Given the description of an element on the screen output the (x, y) to click on. 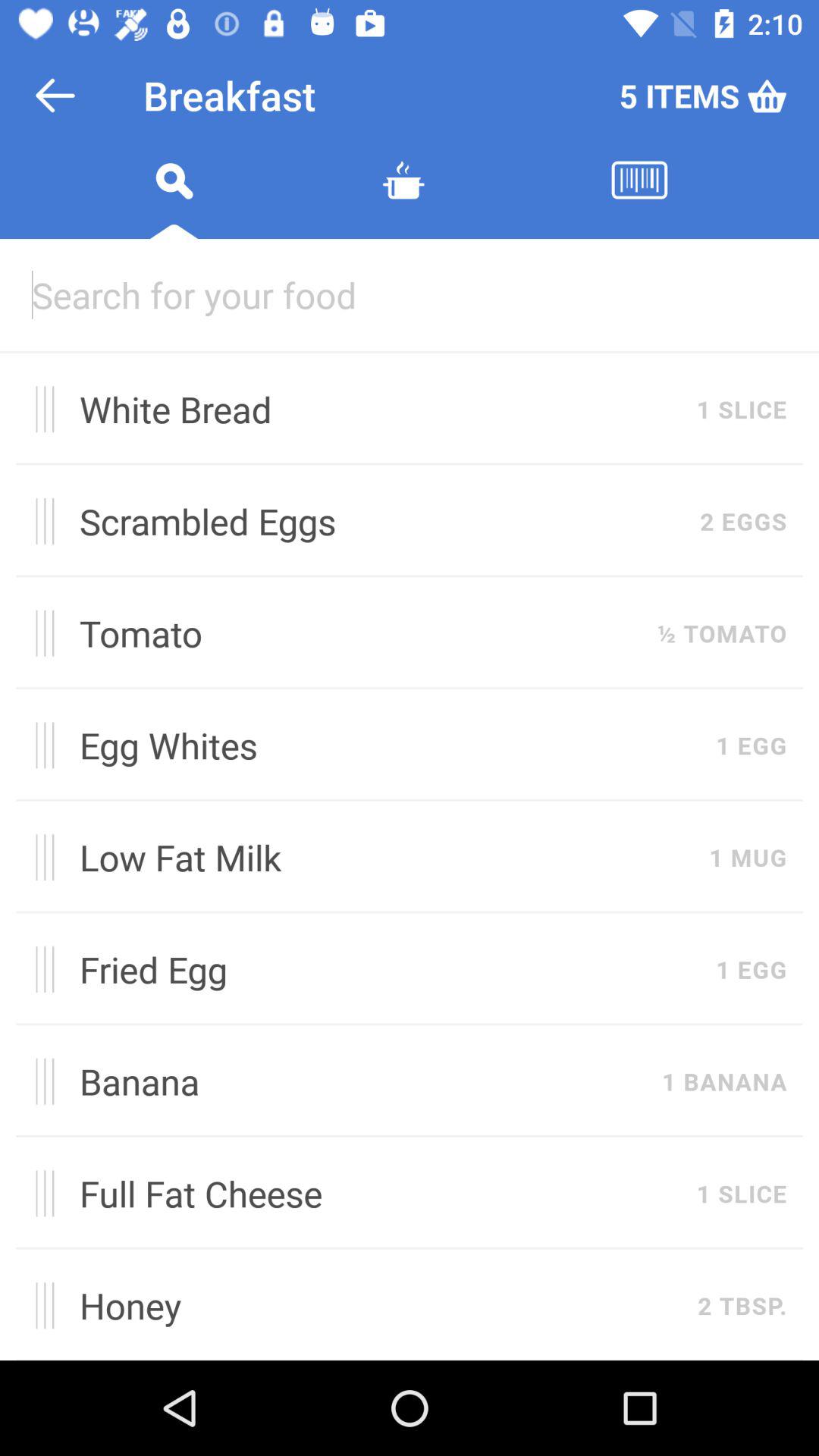
press the item next to the low fat milk icon (39, 857)
